Given the description of an element on the screen output the (x, y) to click on. 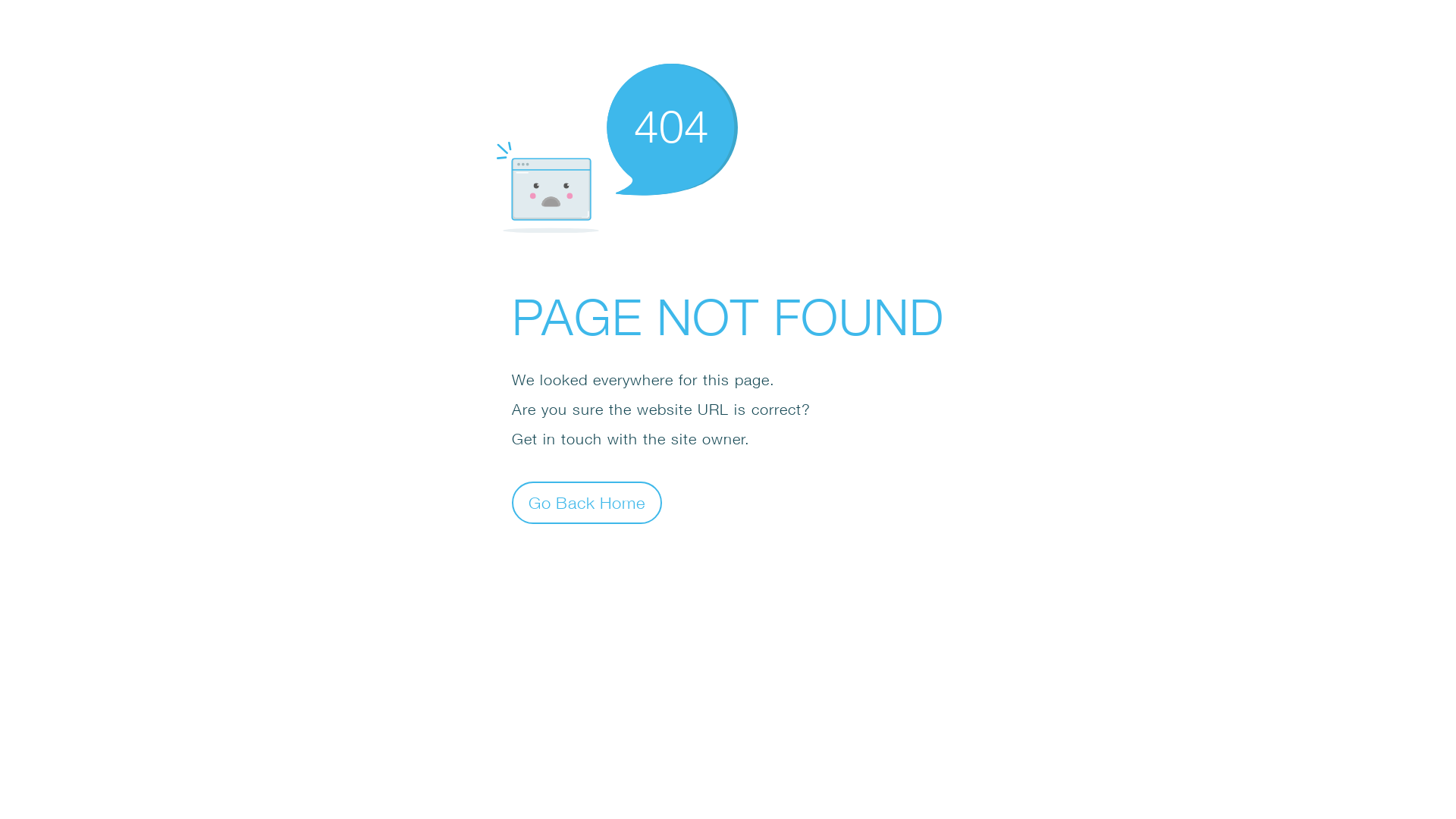
Go Back Home Element type: text (586, 502)
